Given the description of an element on the screen output the (x, y) to click on. 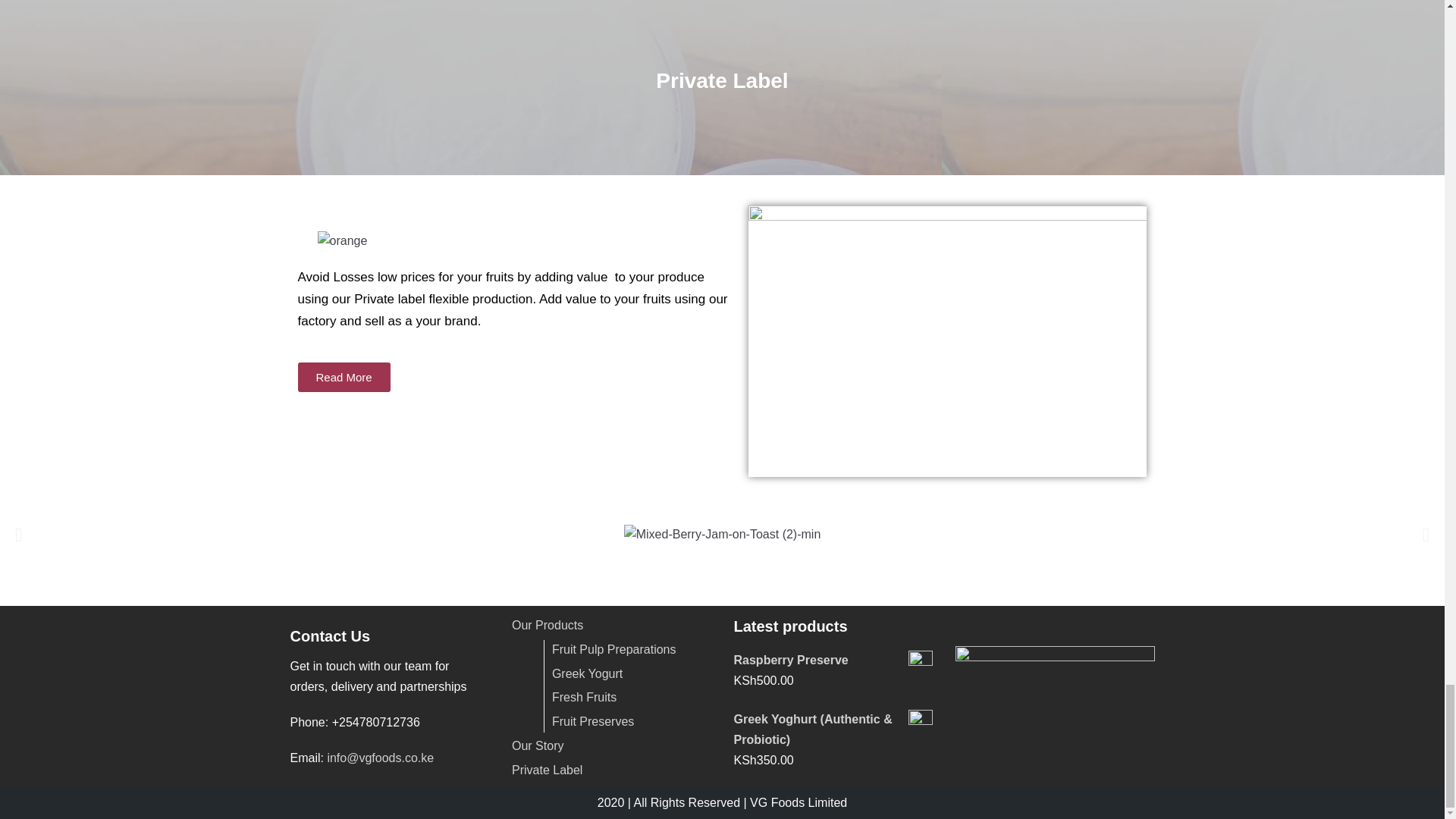
Greek Yogurt (587, 673)
Read More (343, 377)
Our Products (547, 625)
orange (341, 240)
Fresh Fruits (583, 697)
Fruit Pulp Preparations (614, 649)
